Given the description of an element on the screen output the (x, y) to click on. 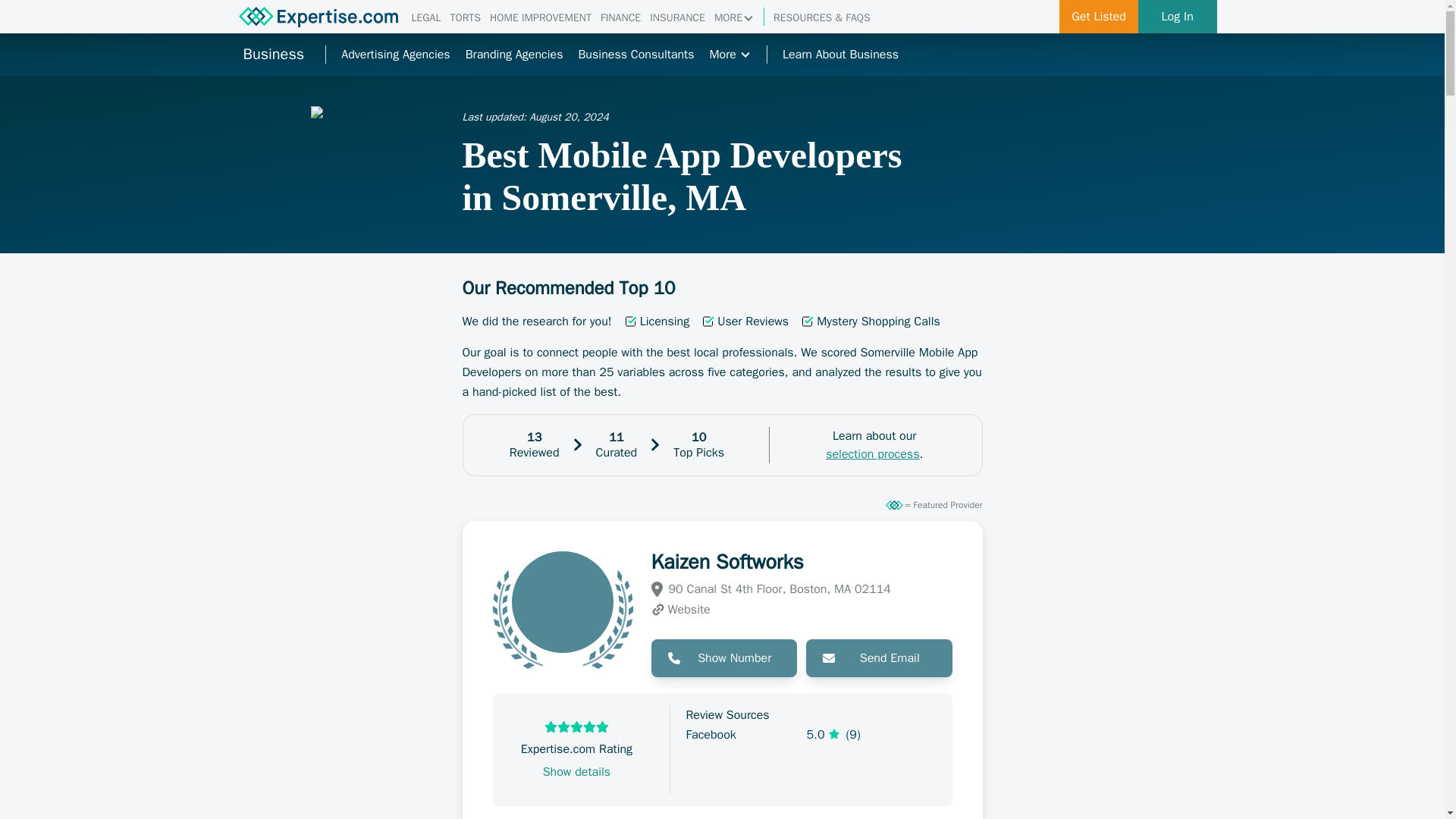
Business Consultants (636, 54)
MORE (734, 17)
More (730, 54)
Advertising Agencies (394, 54)
Log In (1177, 16)
TORTS (464, 17)
HOME IMPROVEMENT (540, 17)
INSURANCE (676, 17)
Business (272, 53)
Branding Agencies (514, 54)
